Given the description of an element on the screen output the (x, y) to click on. 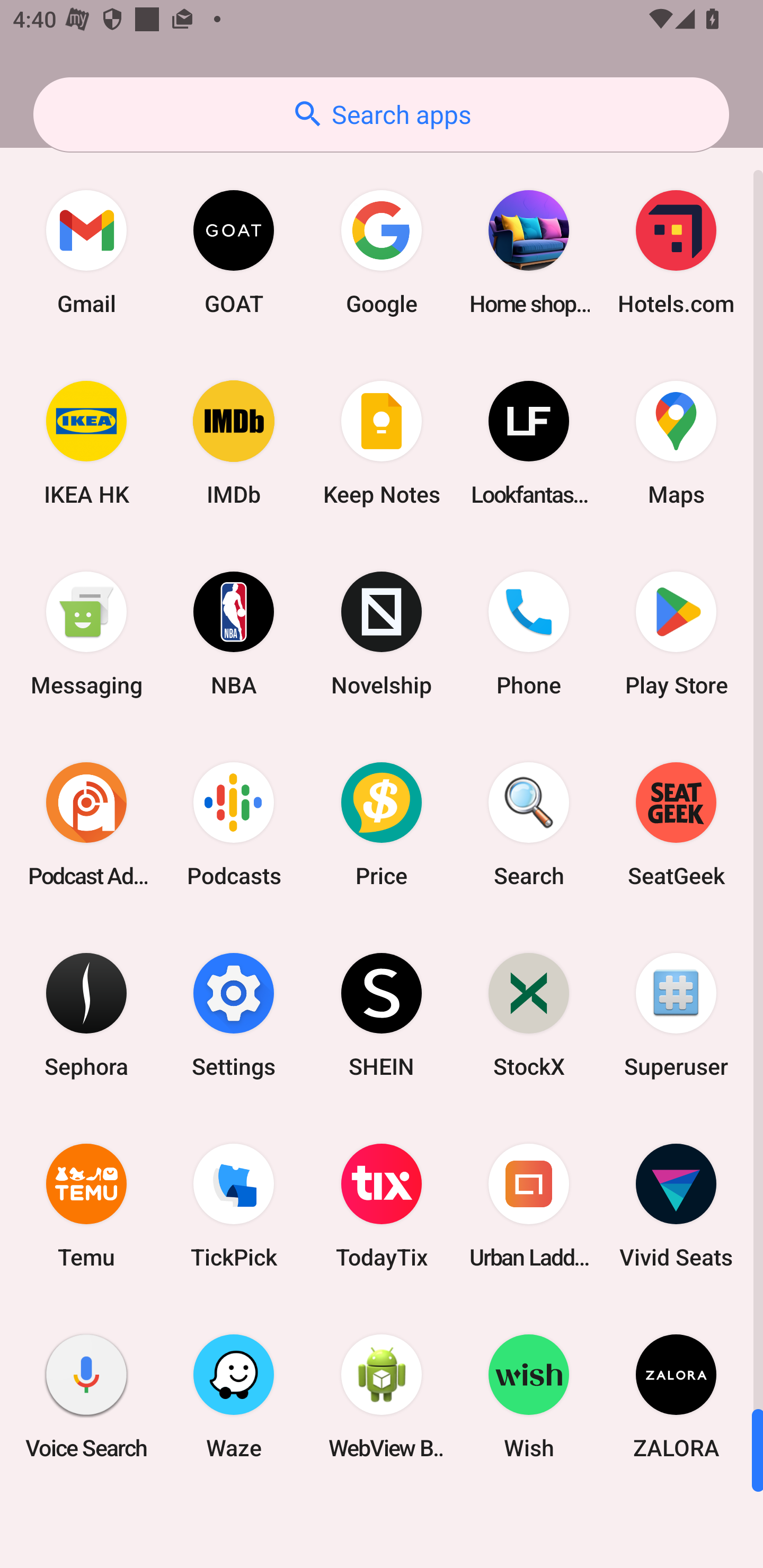
  Search apps (381, 114)
Gmail (86, 252)
GOAT (233, 252)
Google (381, 252)
Home shopping (528, 252)
Hotels.com (676, 252)
IKEA HK (86, 442)
IMDb (233, 442)
Keep Notes (381, 442)
Lookfantastic (528, 442)
Maps (676, 442)
Messaging (86, 633)
NBA (233, 633)
Novelship (381, 633)
Phone (528, 633)
Play Store (676, 633)
Podcast Addict (86, 823)
Podcasts (233, 823)
Price (381, 823)
Search (528, 823)
SeatGeek (676, 823)
Sephora (86, 1014)
Settings (233, 1014)
SHEIN (381, 1014)
StockX (528, 1014)
Superuser (676, 1014)
Temu (86, 1205)
TickPick (233, 1205)
TodayTix (381, 1205)
Urban Ladder (528, 1205)
Vivid Seats (676, 1205)
Voice Search (86, 1396)
Waze (233, 1396)
WebView Browser Tester (381, 1396)
Wish (528, 1396)
ZALORA (676, 1396)
